Given the description of an element on the screen output the (x, y) to click on. 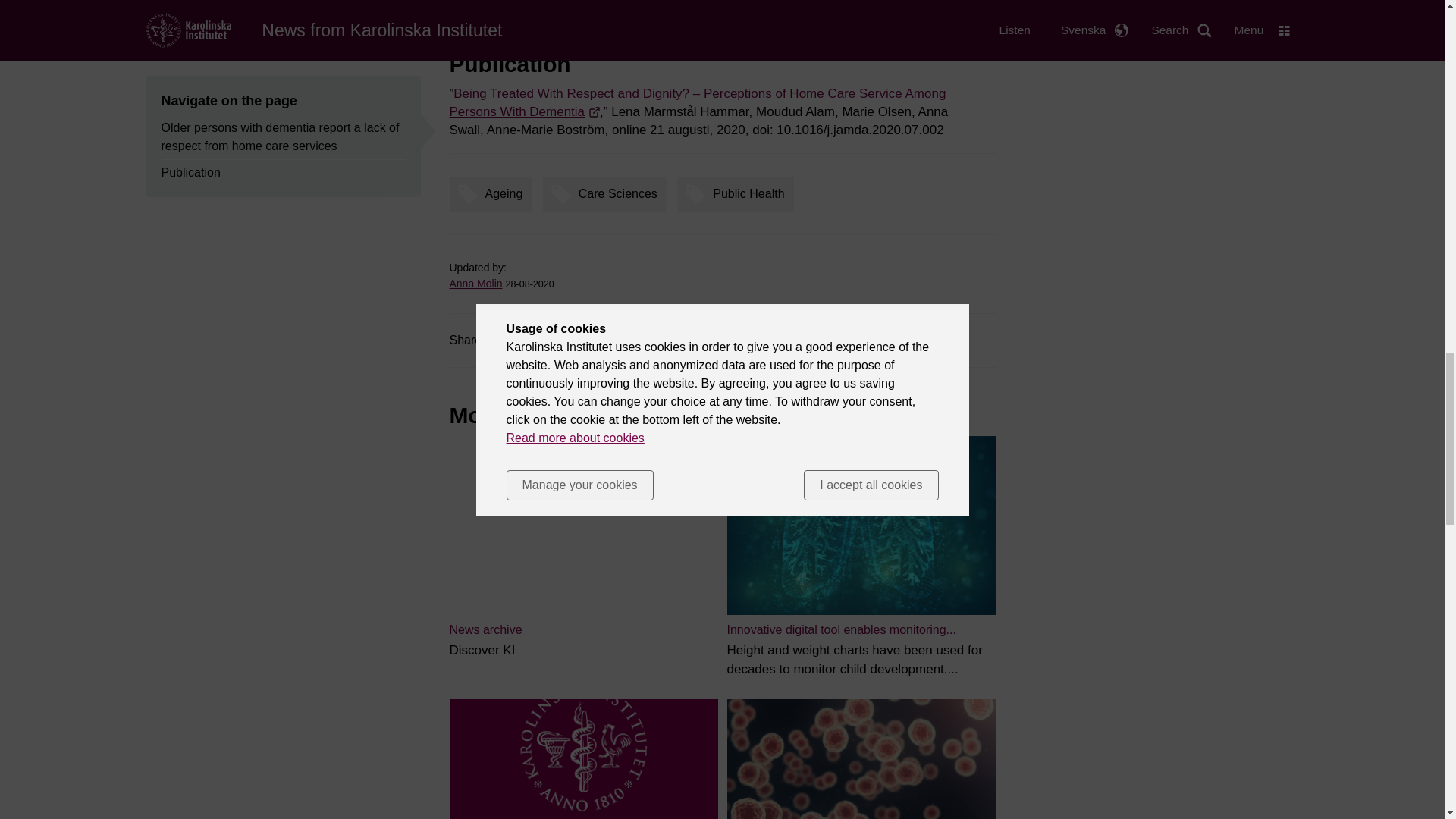
Innovative digital tool enables monitoring... (840, 629)
Twitter (576, 339)
Public Health (738, 193)
Anna Molin (475, 283)
Care Sciences (608, 193)
Innovative digital tool enables monitoring... (840, 629)
Ageing (493, 193)
News archive (484, 629)
News archive (484, 629)
Facebook (523, 339)
LinkedIn (629, 339)
